Given the description of an element on the screen output the (x, y) to click on. 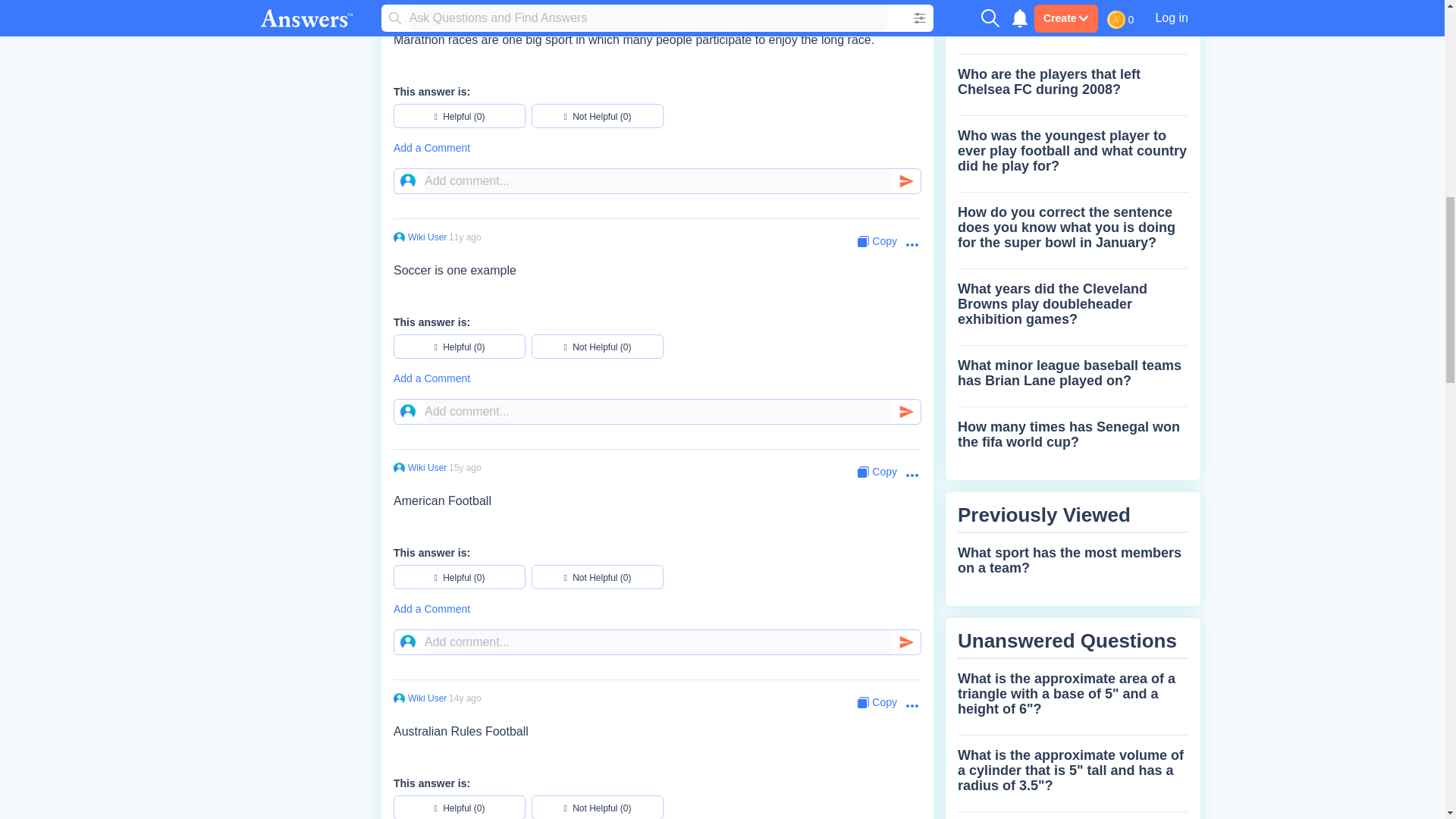
2008-07-23 06:42:35 (464, 467)
2010-02-15 11:06:47 (464, 6)
2013-05-14 20:36:40 (464, 236)
2010-03-06 17:17:52 (464, 697)
